Given the description of an element on the screen output the (x, y) to click on. 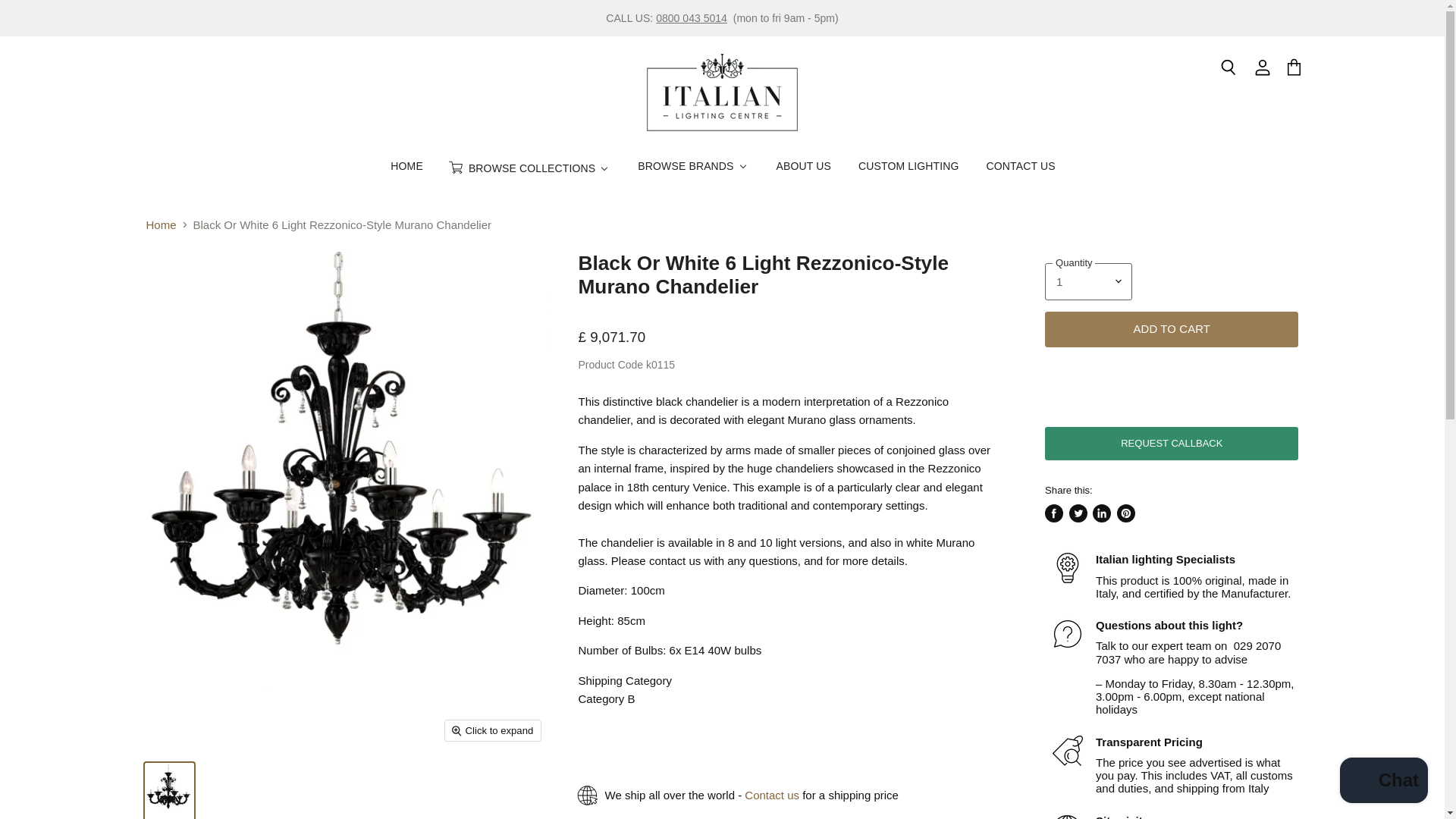
BROWSE COLLECTIONS (529, 167)
0800 043 5014 (691, 18)
HOME (405, 165)
